Given the description of an element on the screen output the (x, y) to click on. 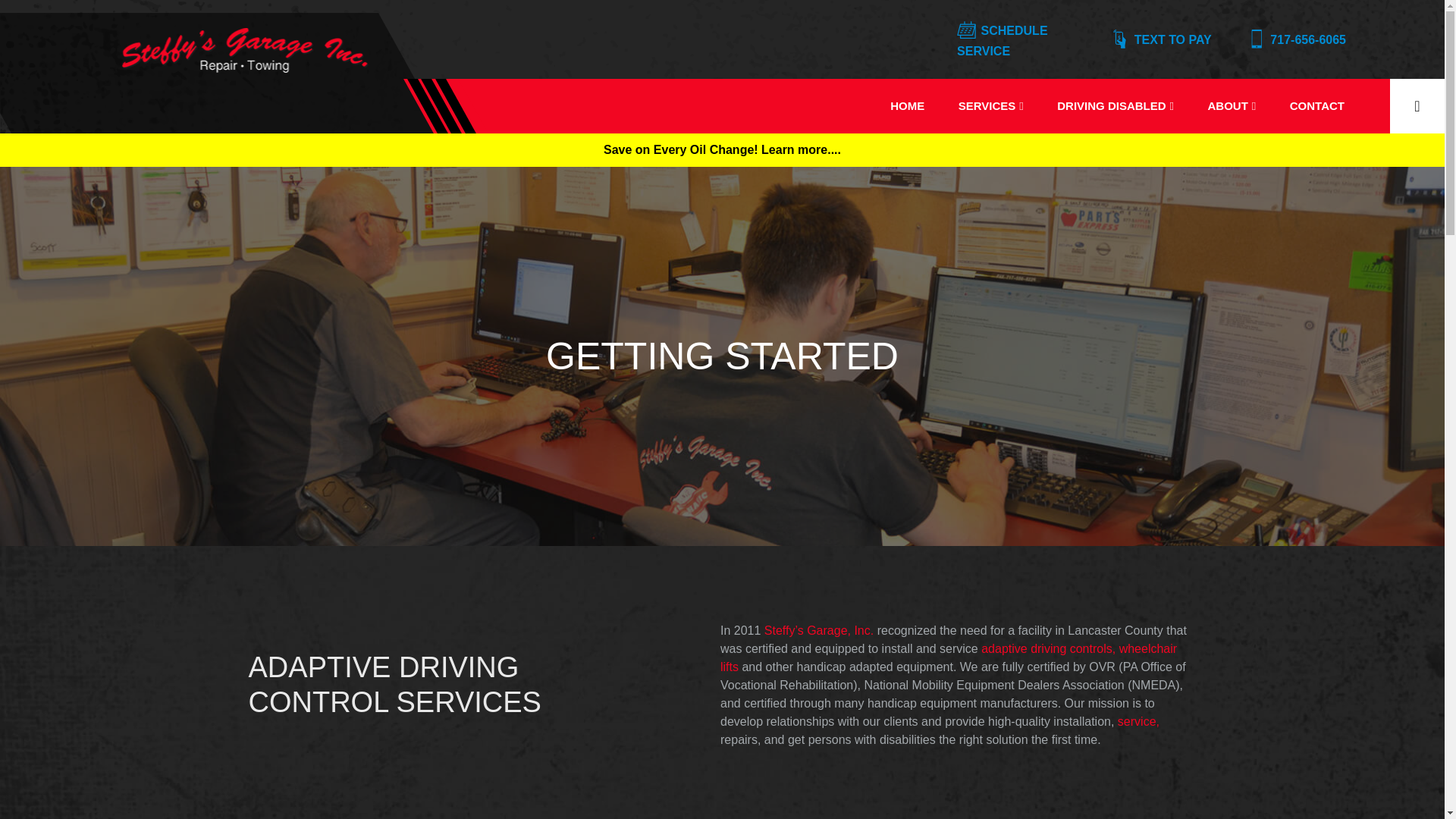
ABOUT (1232, 106)
SCHEDULE SERVICE (1020, 40)
DRIVING DISABLED (1115, 106)
SERVICES (991, 106)
CONTACT (1316, 106)
717-656-6065 (1295, 40)
HOME (907, 106)
